Given the description of an element on the screen output the (x, y) to click on. 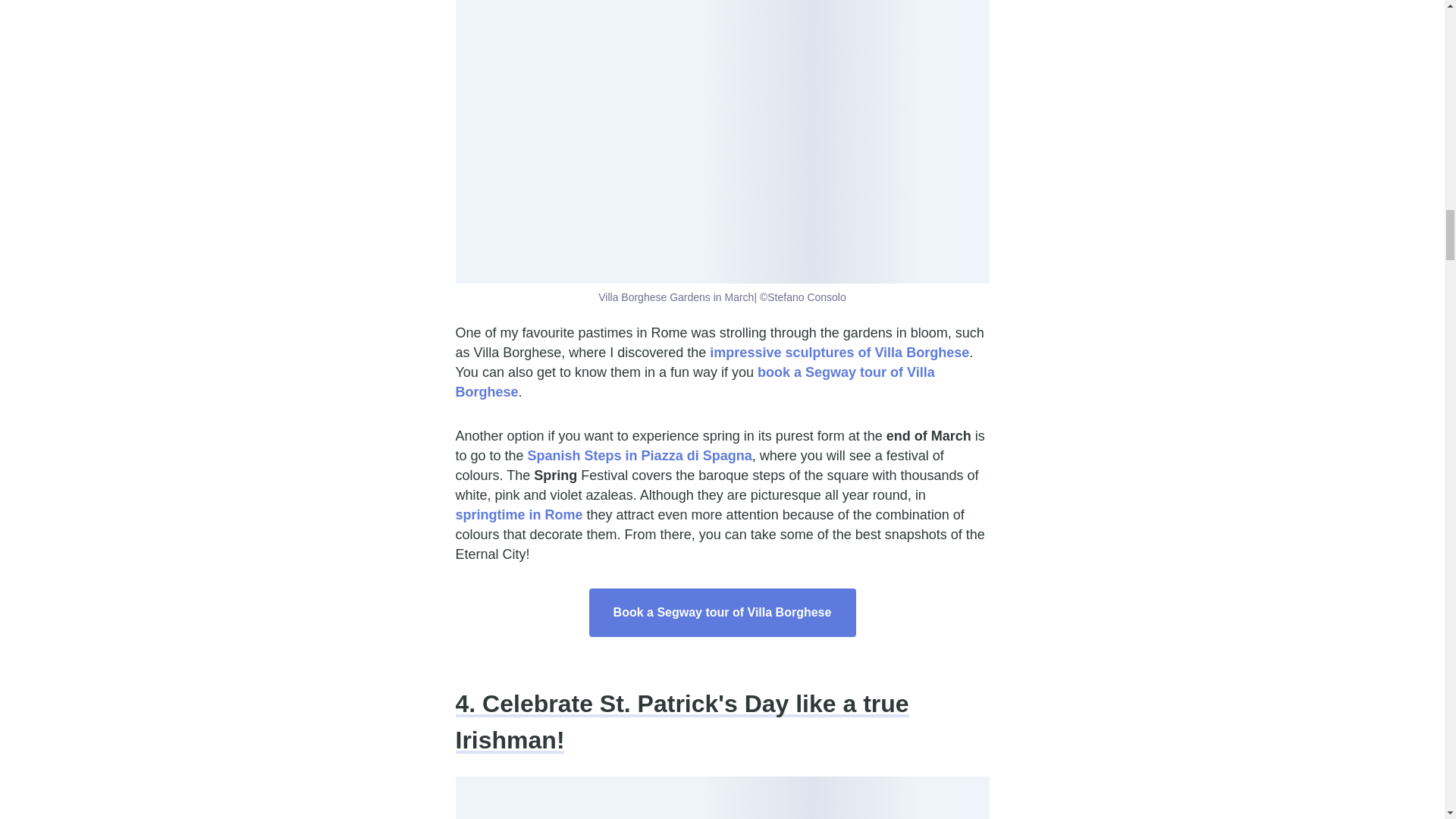
book a Segway tour of Villa Borghese (694, 381)
Spanish Steps in Piazza di Spagna (639, 455)
springtime in Rome (518, 514)
impressive sculptures of Villa Borghese (839, 352)
Book a Segway tour of Villa Borghese (722, 612)
